Given the description of an element on the screen output the (x, y) to click on. 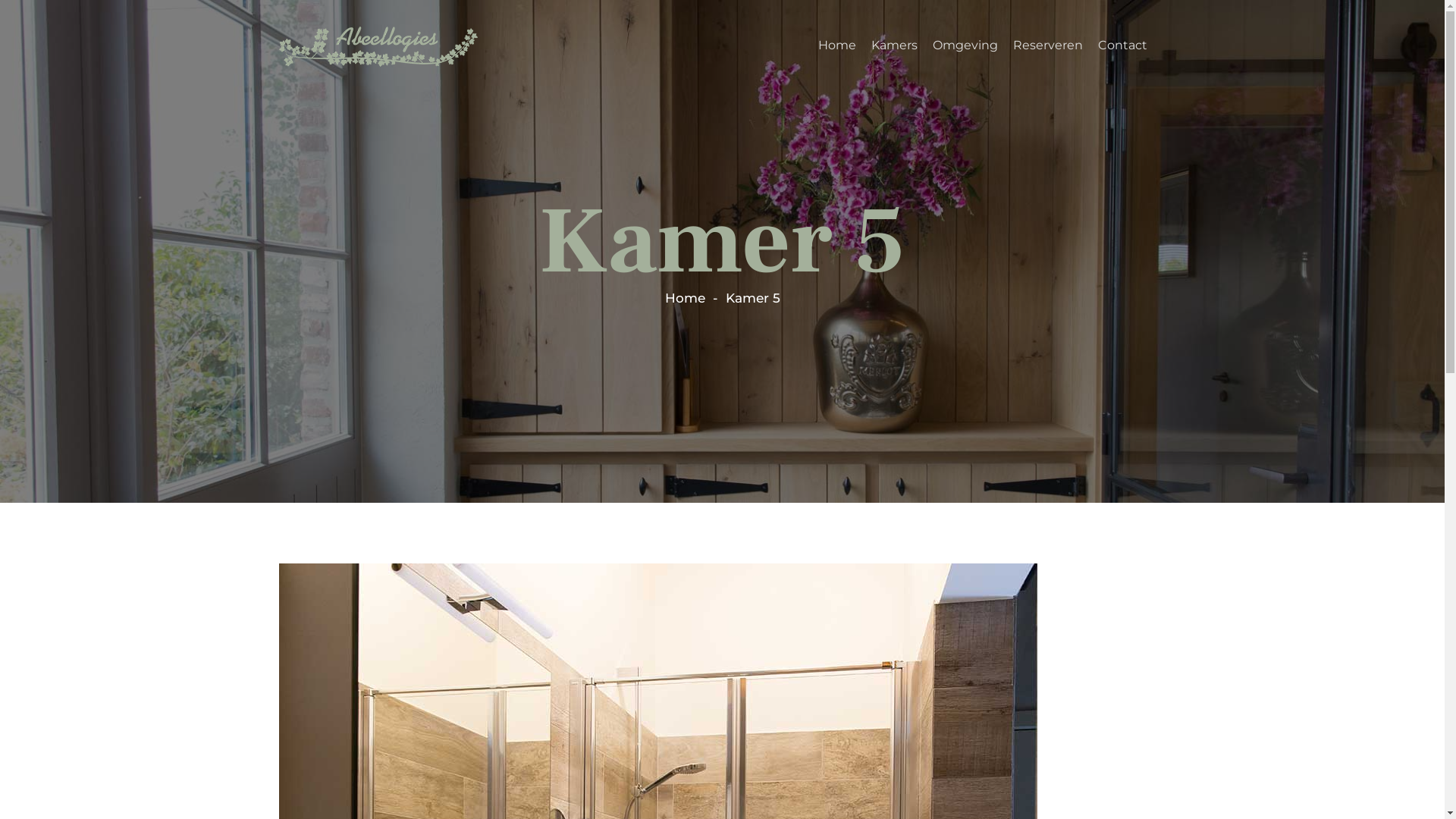
Kamers Element type: text (893, 47)
Reserveren Element type: text (1047, 47)
Omgeving Element type: text (965, 47)
Contact Element type: text (1122, 47)
Home Element type: text (835, 47)
Home Element type: text (684, 297)
